Given the description of an element on the screen output the (x, y) to click on. 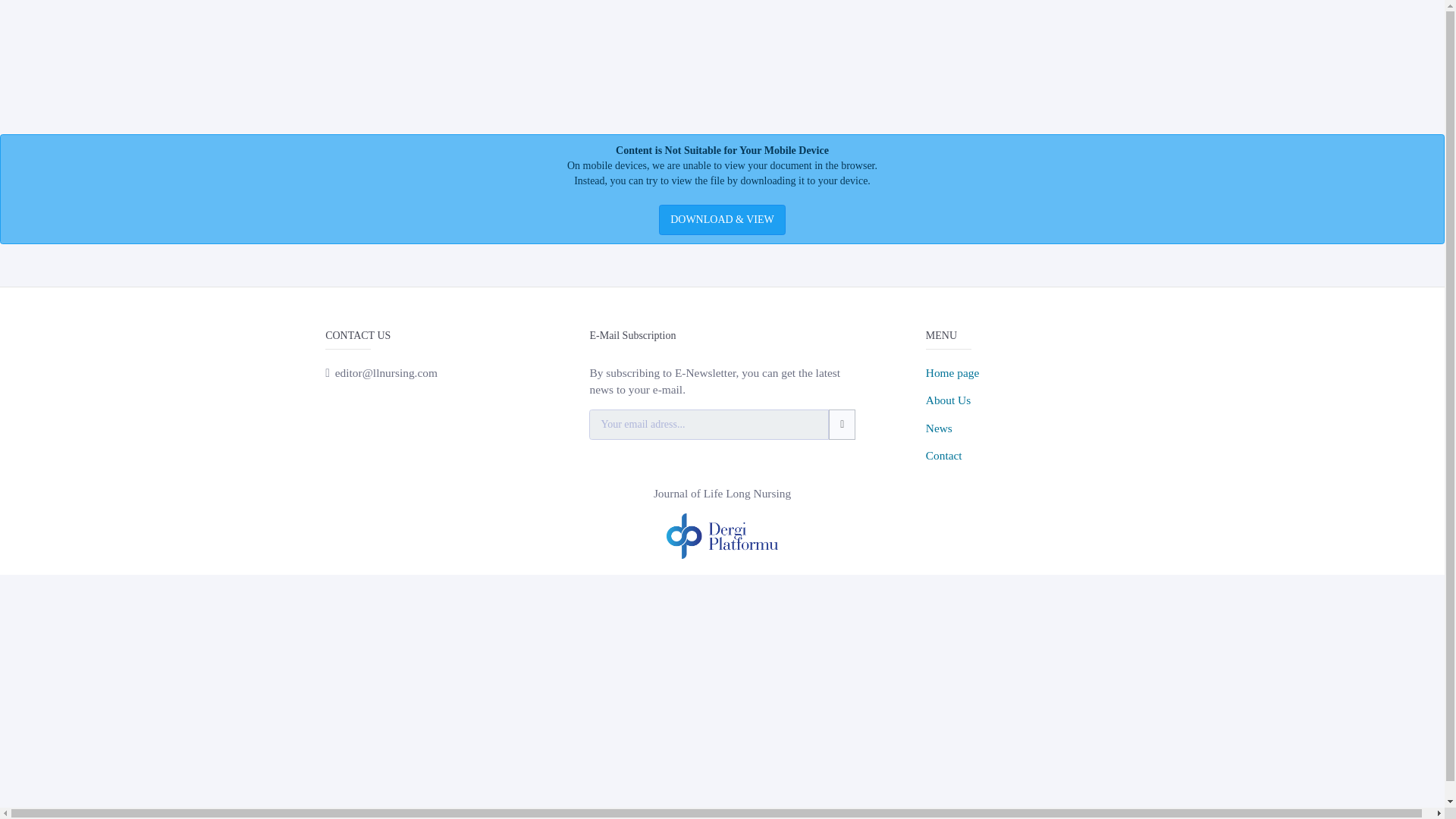
Home page (952, 372)
About Us (948, 399)
Contact (944, 454)
News (939, 427)
